Given the description of an element on the screen output the (x, y) to click on. 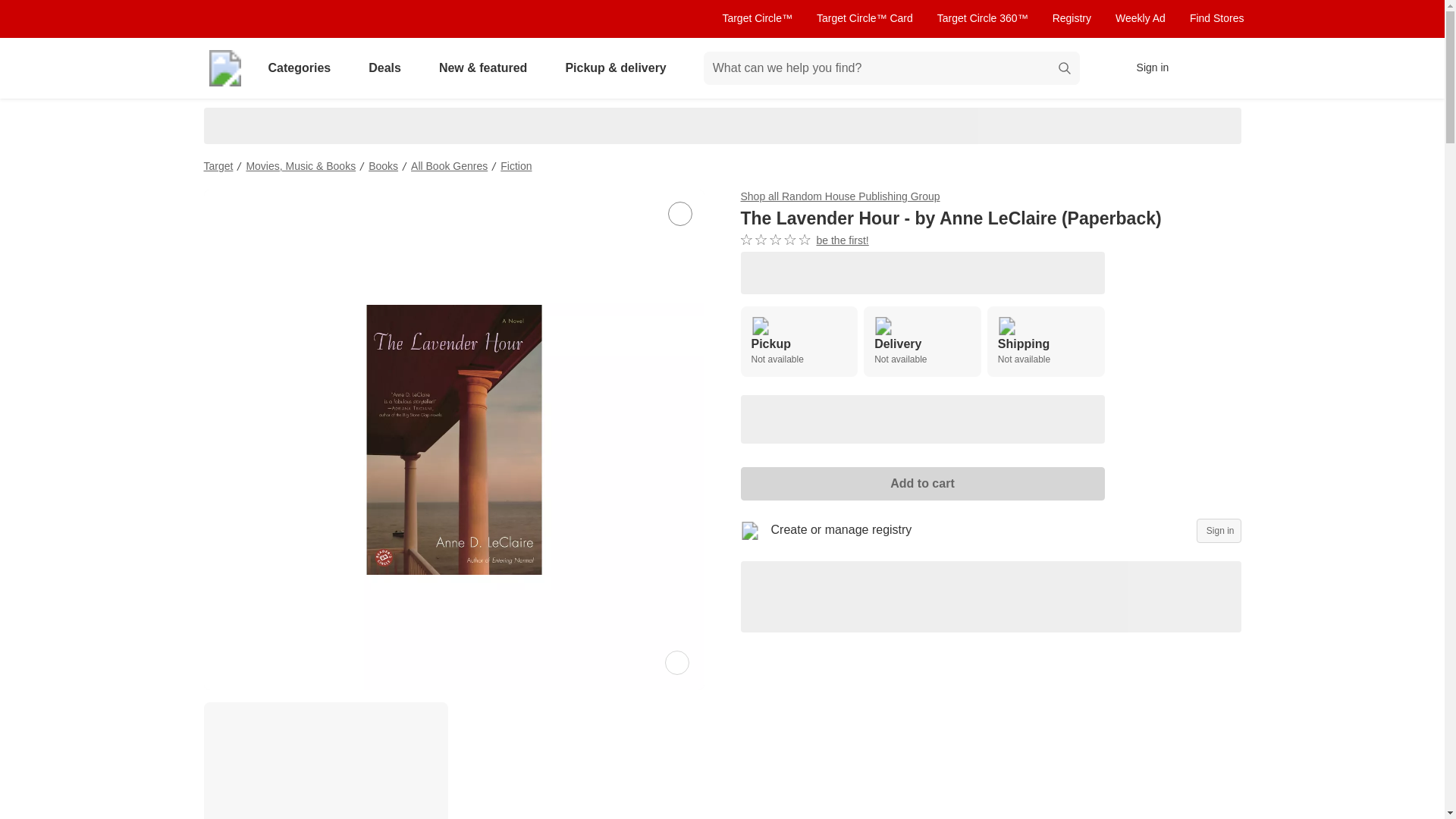
All Book Genres (448, 165)
Shop all Random House Publishing Group (839, 196)
search (1065, 69)
Sign in (1218, 530)
Weekly Ad (1140, 18)
Registry (1071, 18)
Fiction (515, 165)
Deals (798, 341)
Books (387, 68)
Find Stores (382, 165)
Target (1216, 18)
Sign in (922, 341)
